Given the description of an element on the screen output the (x, y) to click on. 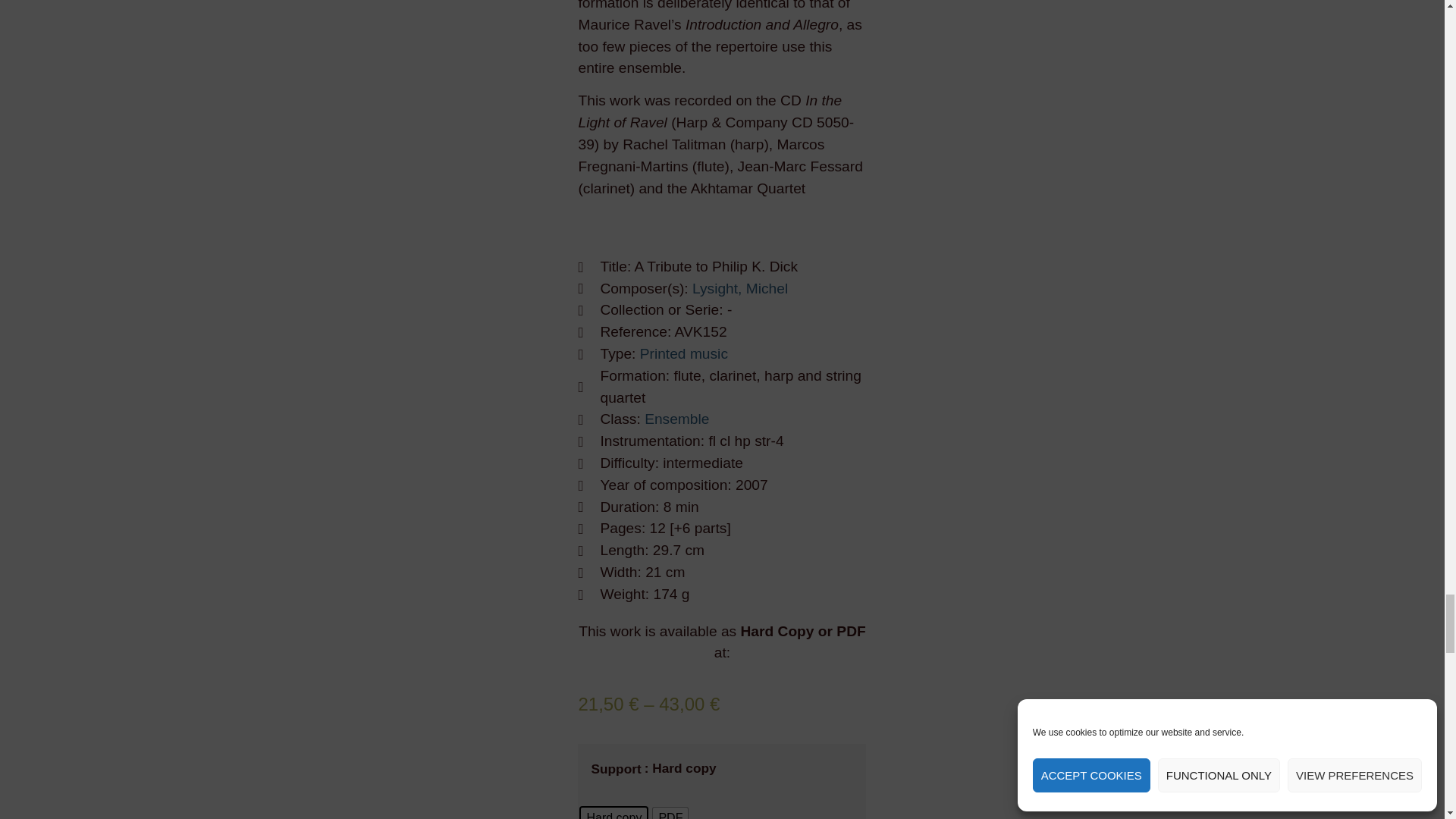
Hard copy (613, 813)
PDF (669, 813)
